Given the description of an element on the screen output the (x, y) to click on. 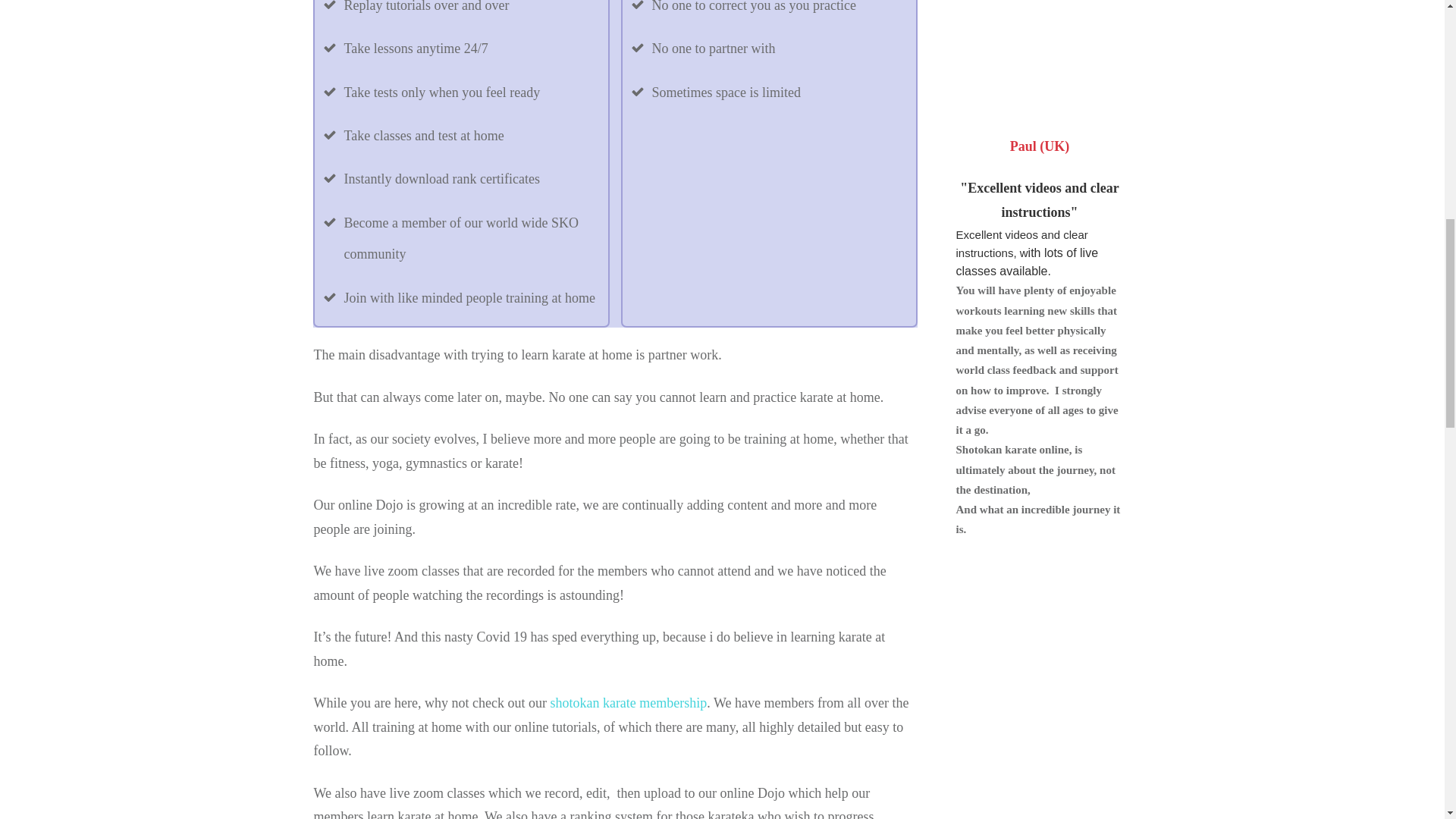
shotokan-karate-app-download (1039, 50)
shotokan karate membership (628, 702)
